Given the description of an element on the screen output the (x, y) to click on. 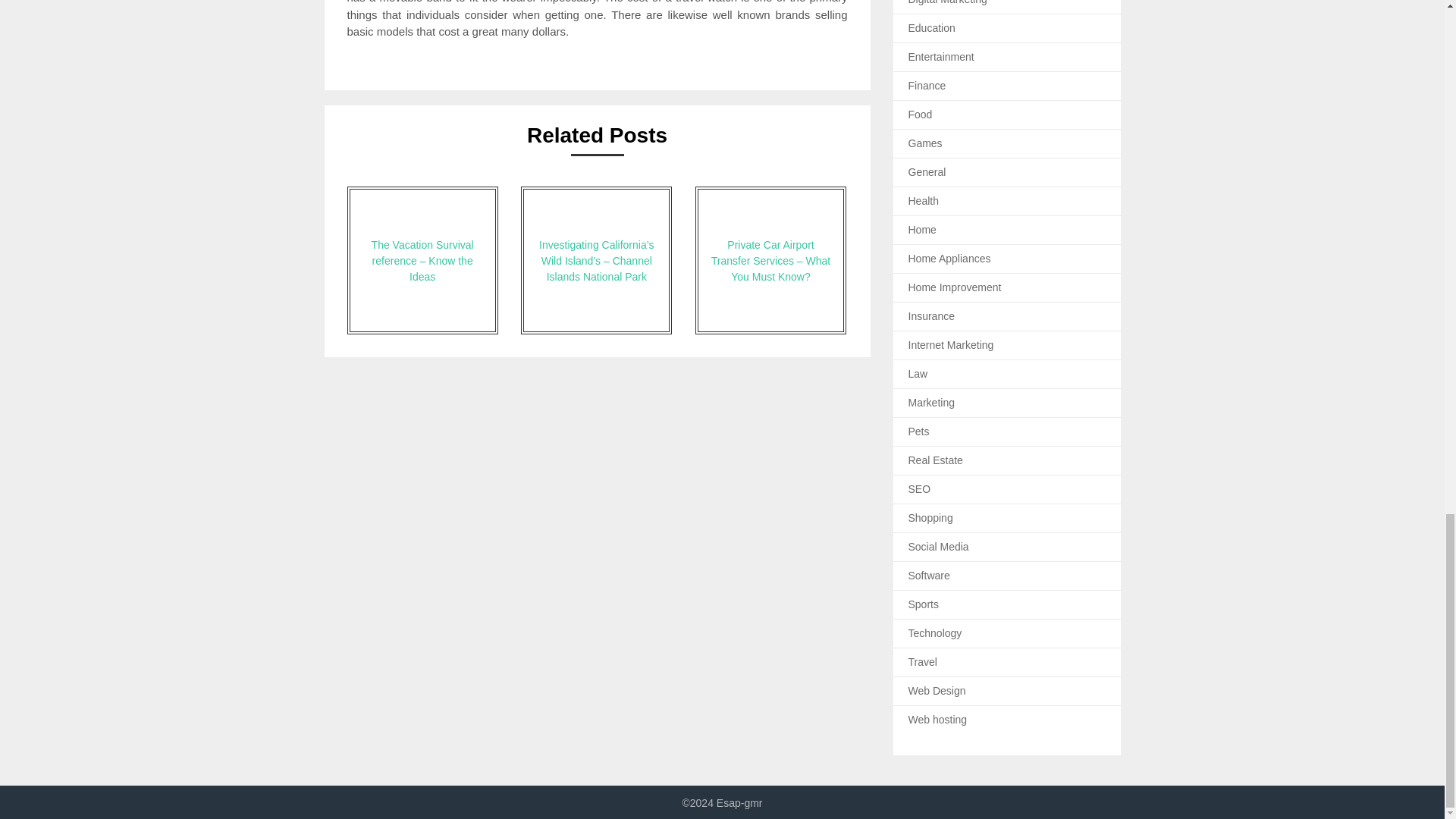
Pets (919, 431)
Health (923, 200)
Insurance (931, 316)
Home Appliances (949, 258)
Finance (927, 85)
Home Improvement (954, 287)
Digital Marketing (947, 2)
Internet Marketing (951, 345)
Marketing (931, 402)
General (927, 172)
Education (931, 28)
Home (922, 229)
Entertainment (941, 56)
Games (925, 143)
Real Estate (935, 460)
